Given the description of an element on the screen output the (x, y) to click on. 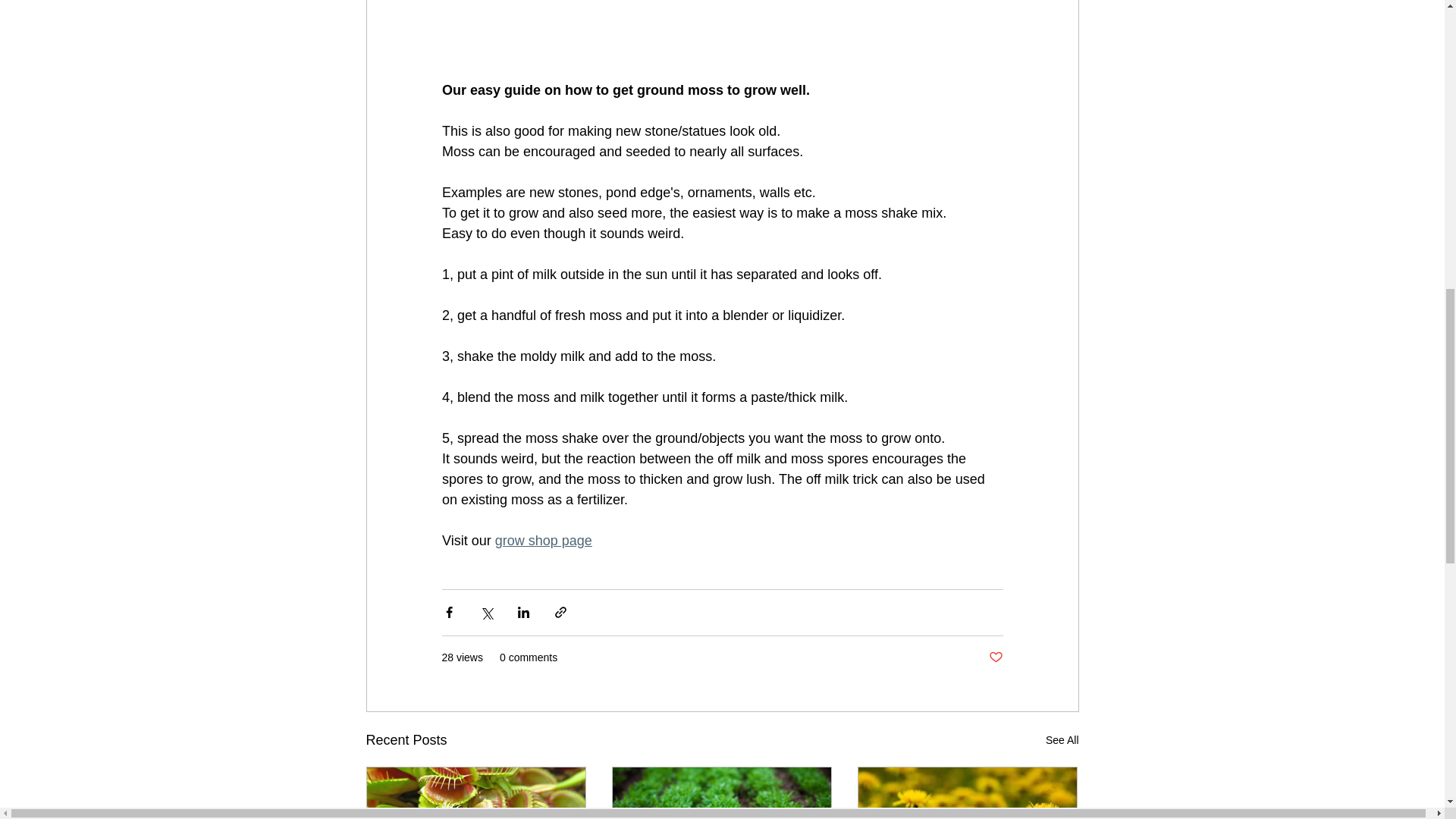
grow shop page (543, 540)
See All (1061, 740)
Post not marked as liked (995, 657)
